Given the description of an element on the screen output the (x, y) to click on. 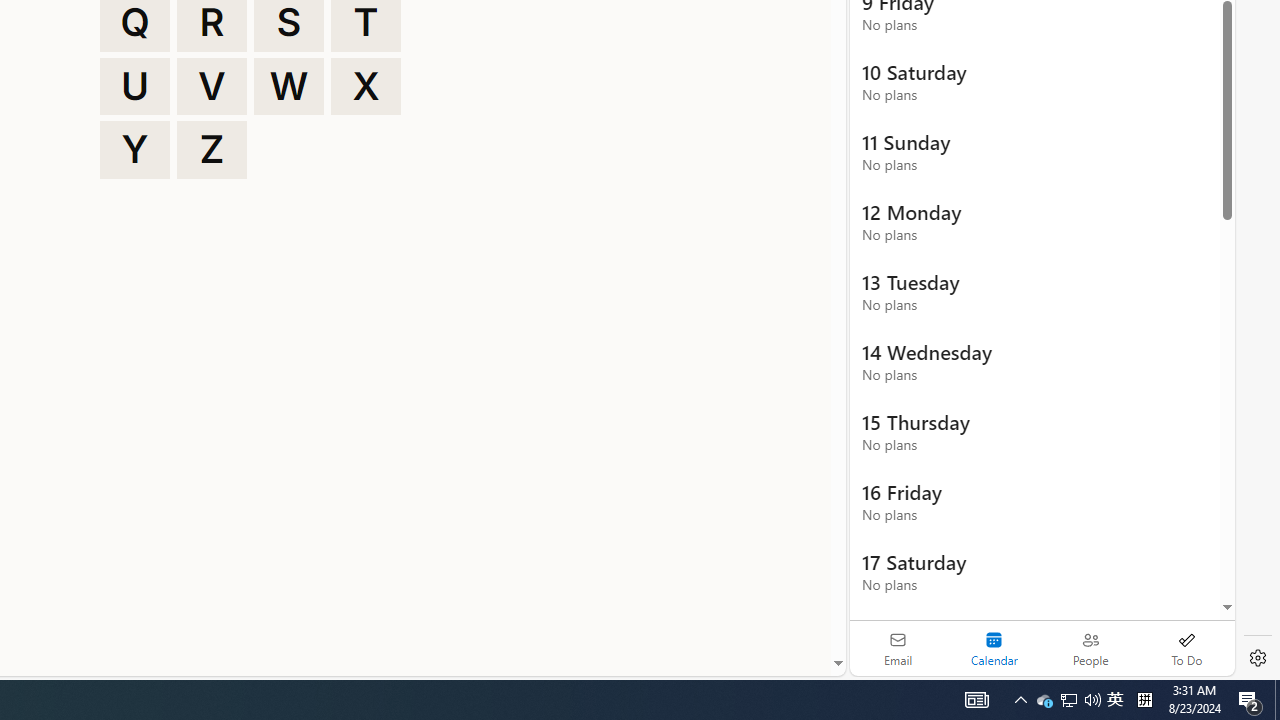
V (212, 85)
People (1090, 648)
Settings (1258, 658)
W (289, 85)
Email (898, 648)
X (365, 85)
U (134, 85)
